Given the description of an element on the screen output the (x, y) to click on. 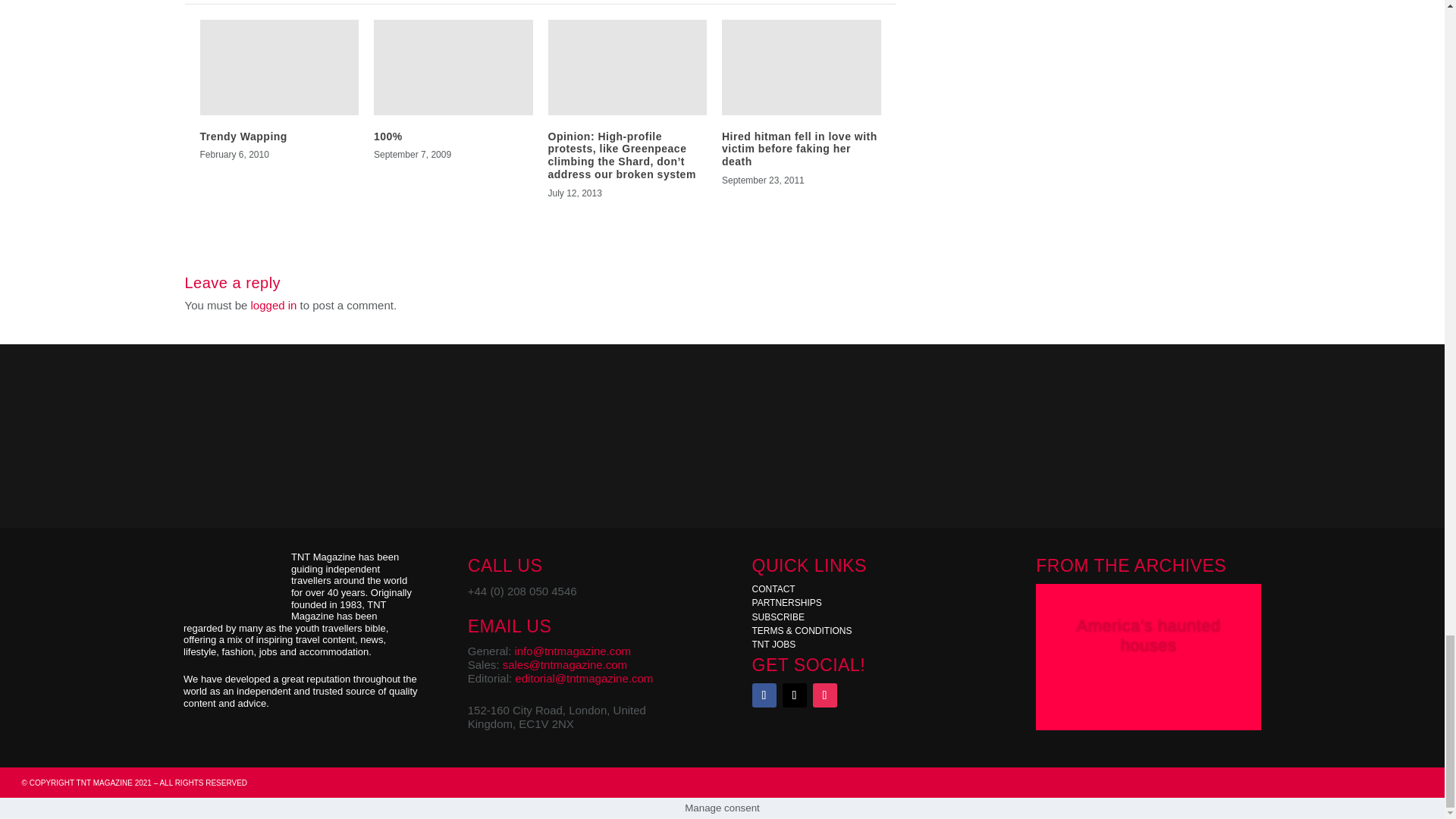
Trendy Wapping (243, 136)
